Given the description of an element on the screen output the (x, y) to click on. 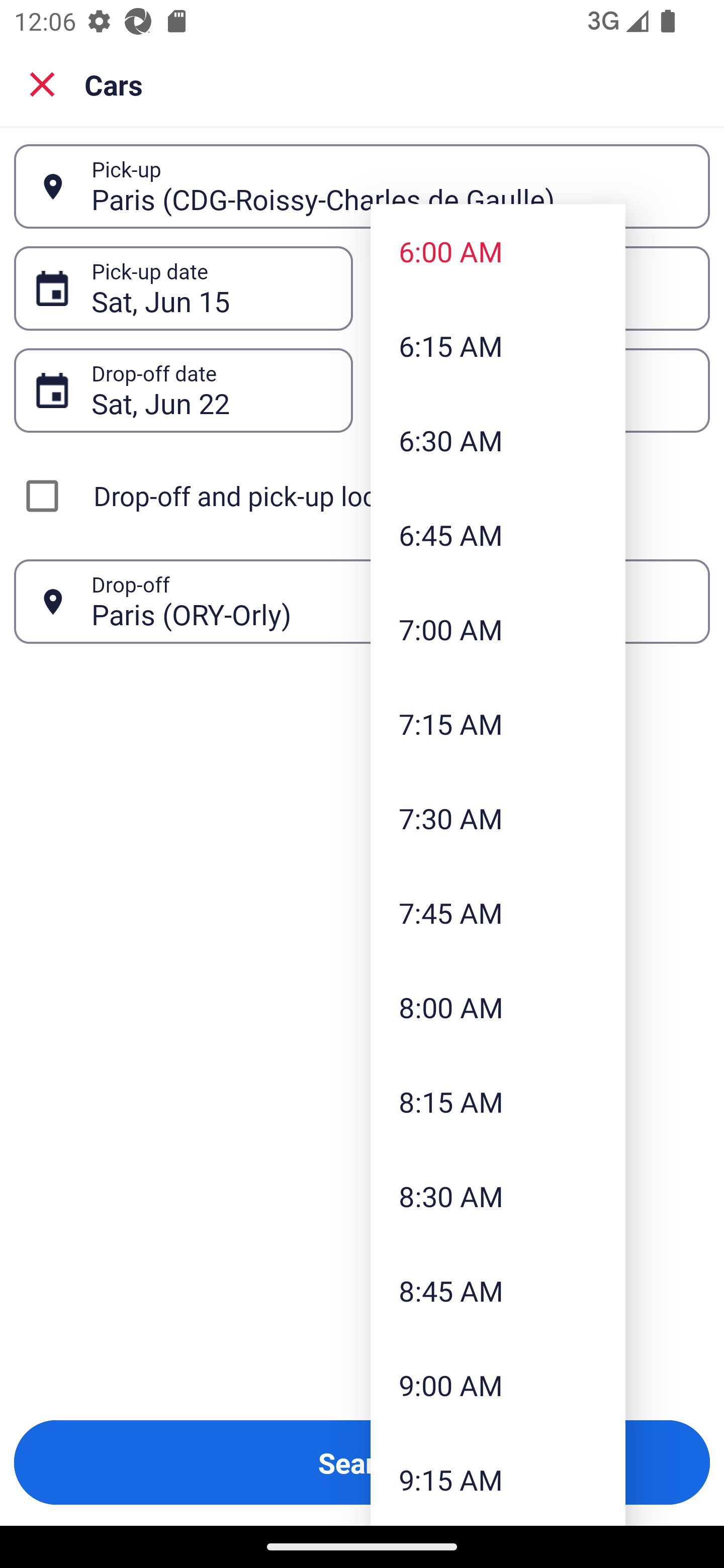
6:00 AM (497, 250)
6:15 AM (497, 345)
6:30 AM (497, 440)
6:45 AM (497, 534)
7:00 AM (497, 628)
7:15 AM (497, 723)
7:30 AM (497, 818)
7:45 AM (497, 912)
8:00 AM (497, 1006)
8:15 AM (497, 1101)
8:30 AM (497, 1196)
8:45 AM (497, 1290)
9:00 AM (497, 1384)
9:15 AM (497, 1478)
